Given the description of an element on the screen output the (x, y) to click on. 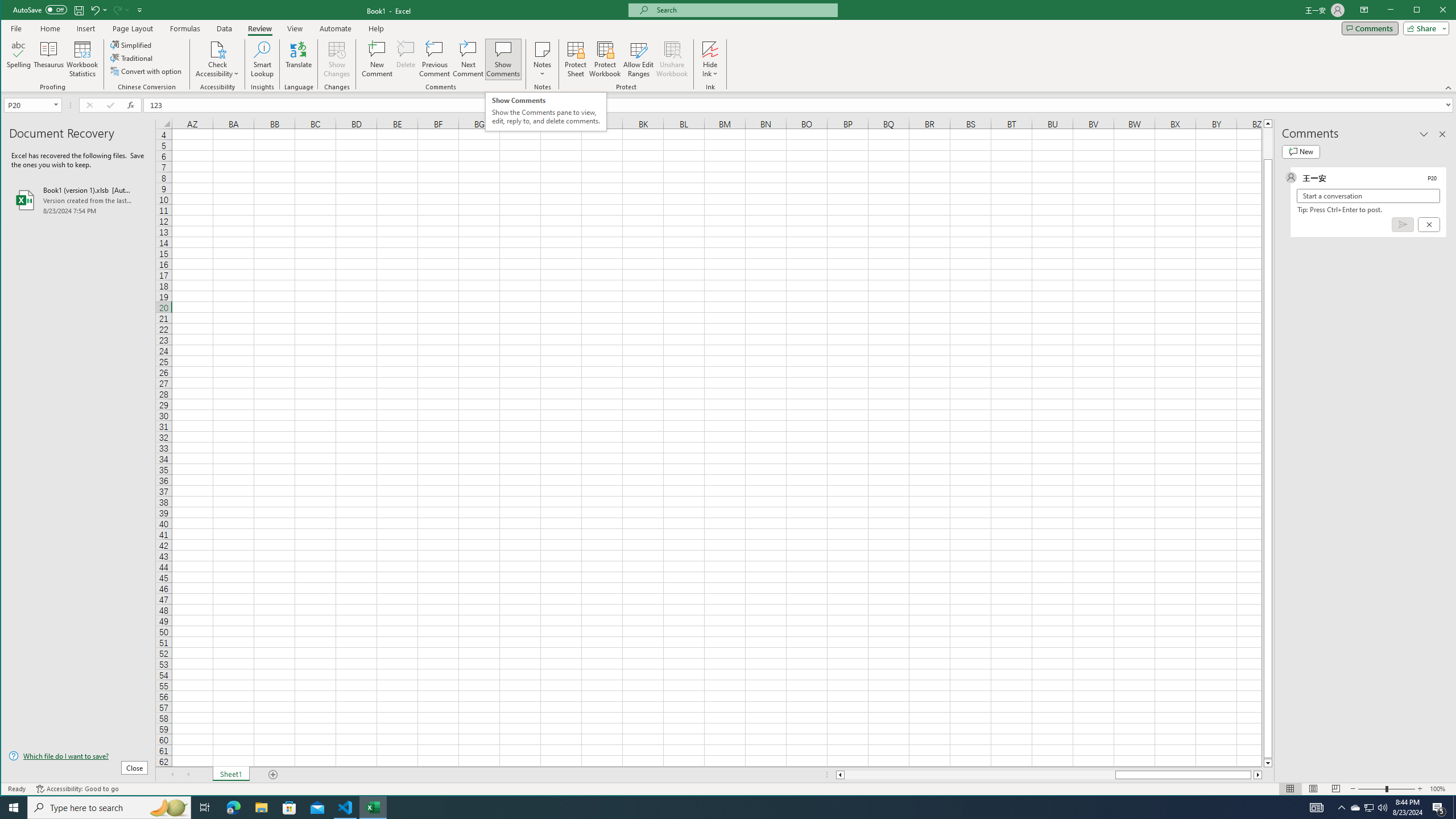
AutomationID: 4105 (1316, 807)
New comment (1300, 151)
Start a conversation (1368, 195)
Protect Workbook... (604, 59)
Next Comment (467, 59)
Thesaurus... (48, 59)
